Given the description of an element on the screen output the (x, y) to click on. 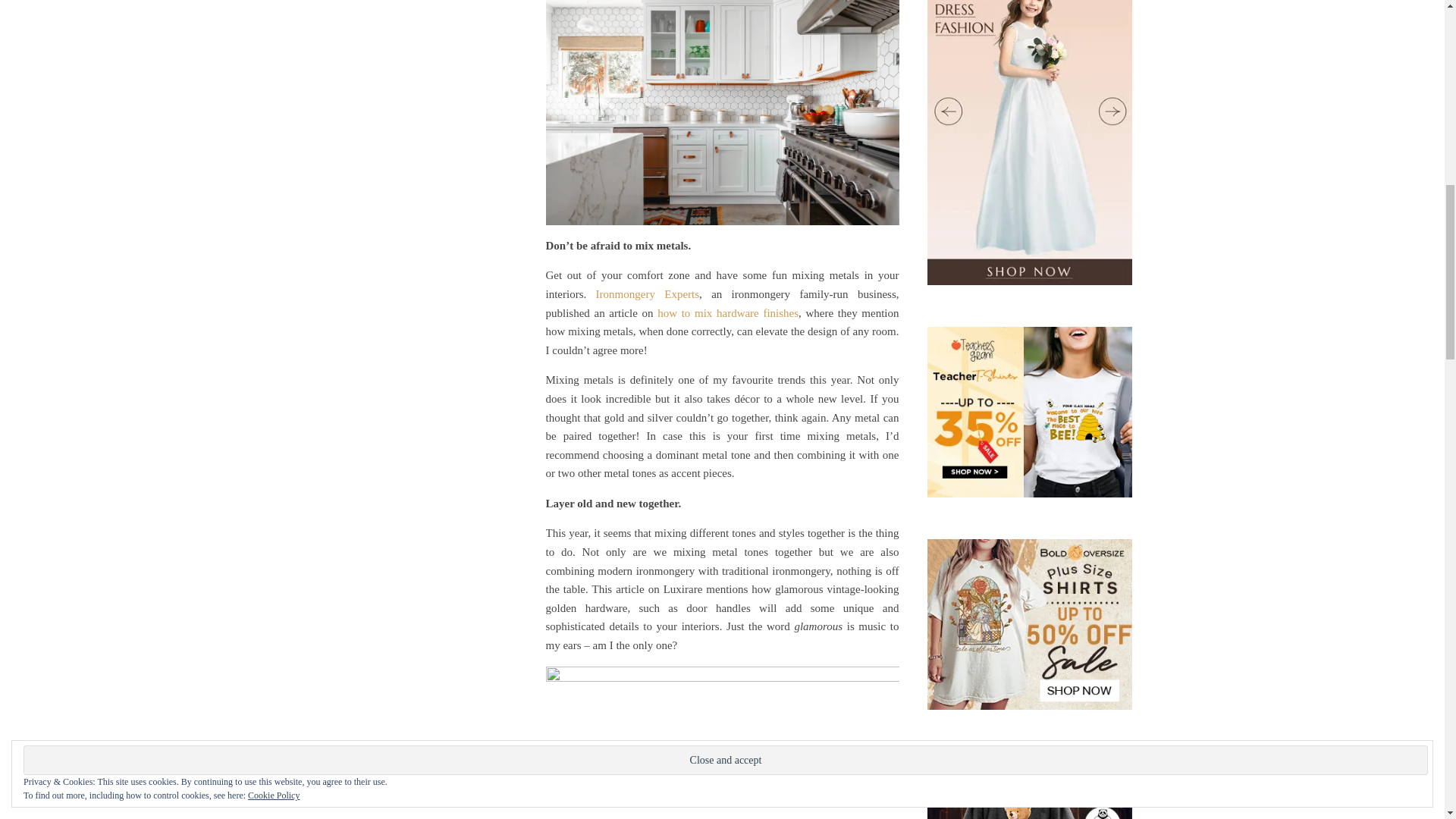
oversized shirt (1028, 624)
gym shirts (1028, 785)
how to mix hardware finishes (727, 313)
Ironmongery Experts (646, 294)
teacher shirt (1028, 411)
